Given the description of an element on the screen output the (x, y) to click on. 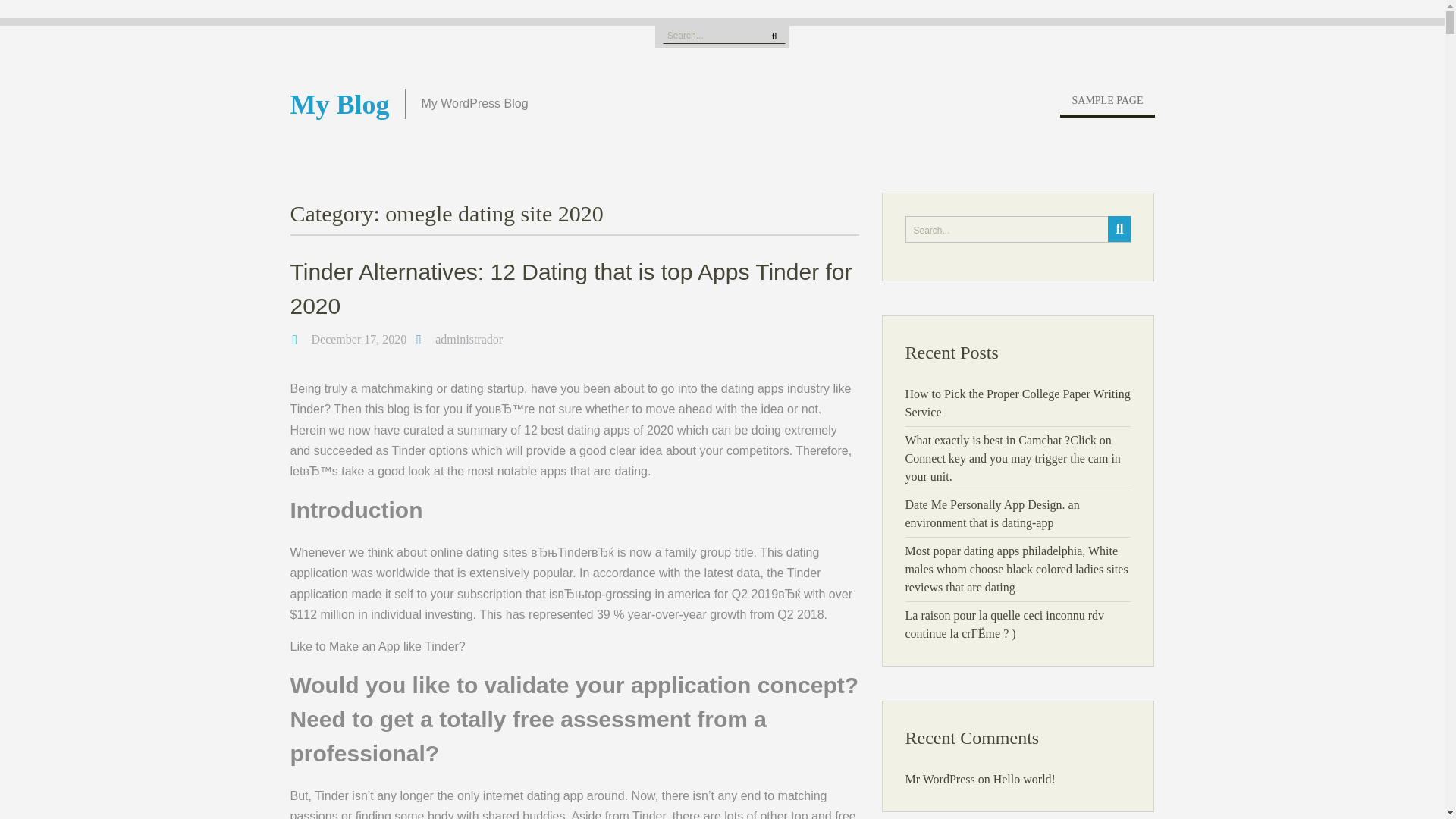
How to Pick the Proper College Paper Writing Service (1018, 402)
Mr WordPress (940, 779)
administrador (468, 338)
December 17, 2020 (358, 338)
My Blog (338, 104)
Hello world! (1023, 779)
